Given the description of an element on the screen output the (x, y) to click on. 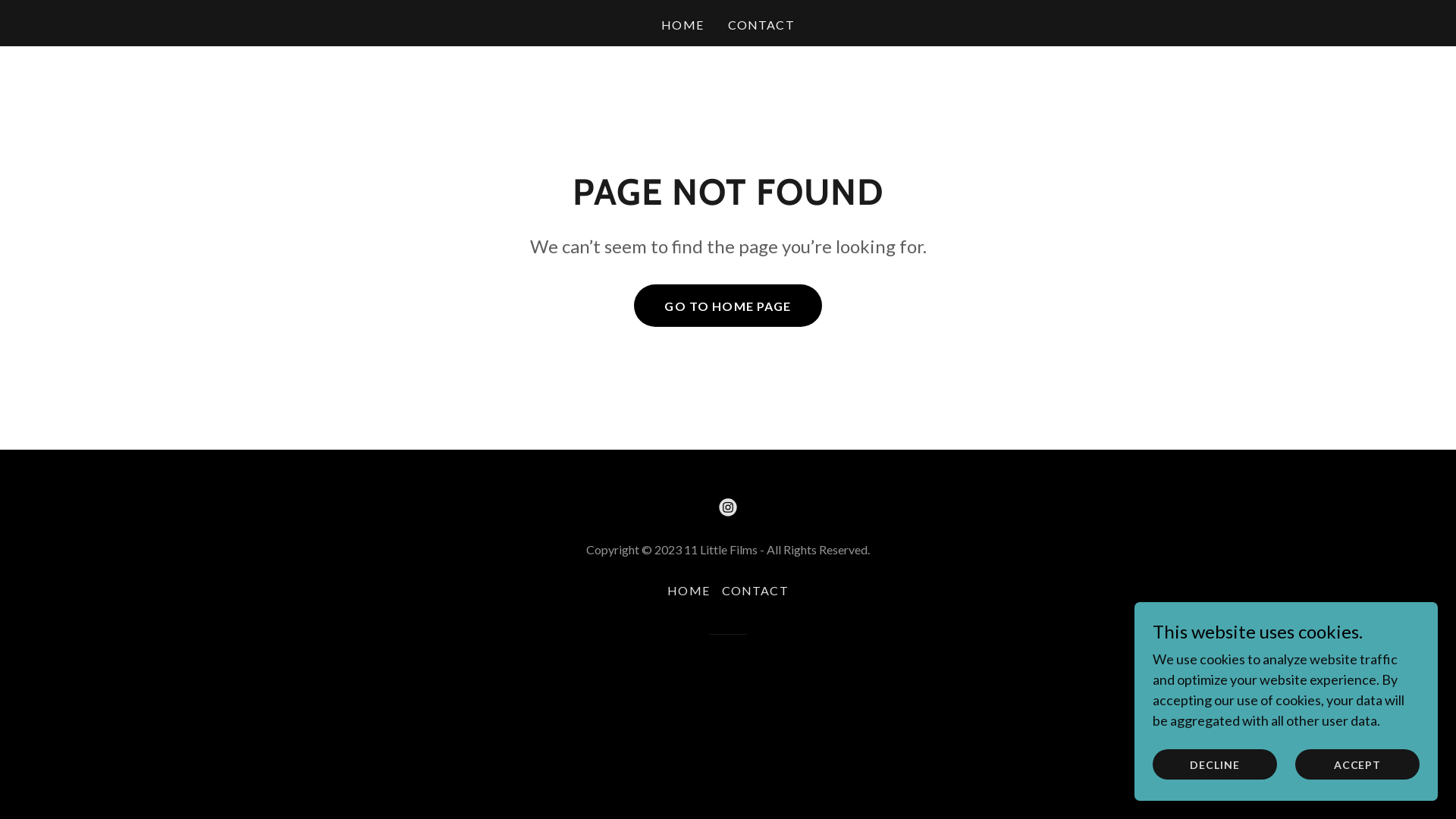
DECLINE Element type: text (1214, 764)
CONTACT Element type: text (761, 24)
HOME Element type: text (688, 590)
HOME Element type: text (682, 24)
CONTACT Element type: text (754, 590)
ACCEPT Element type: text (1357, 764)
GO TO HOME PAGE Element type: text (727, 305)
